Given the description of an element on the screen output the (x, y) to click on. 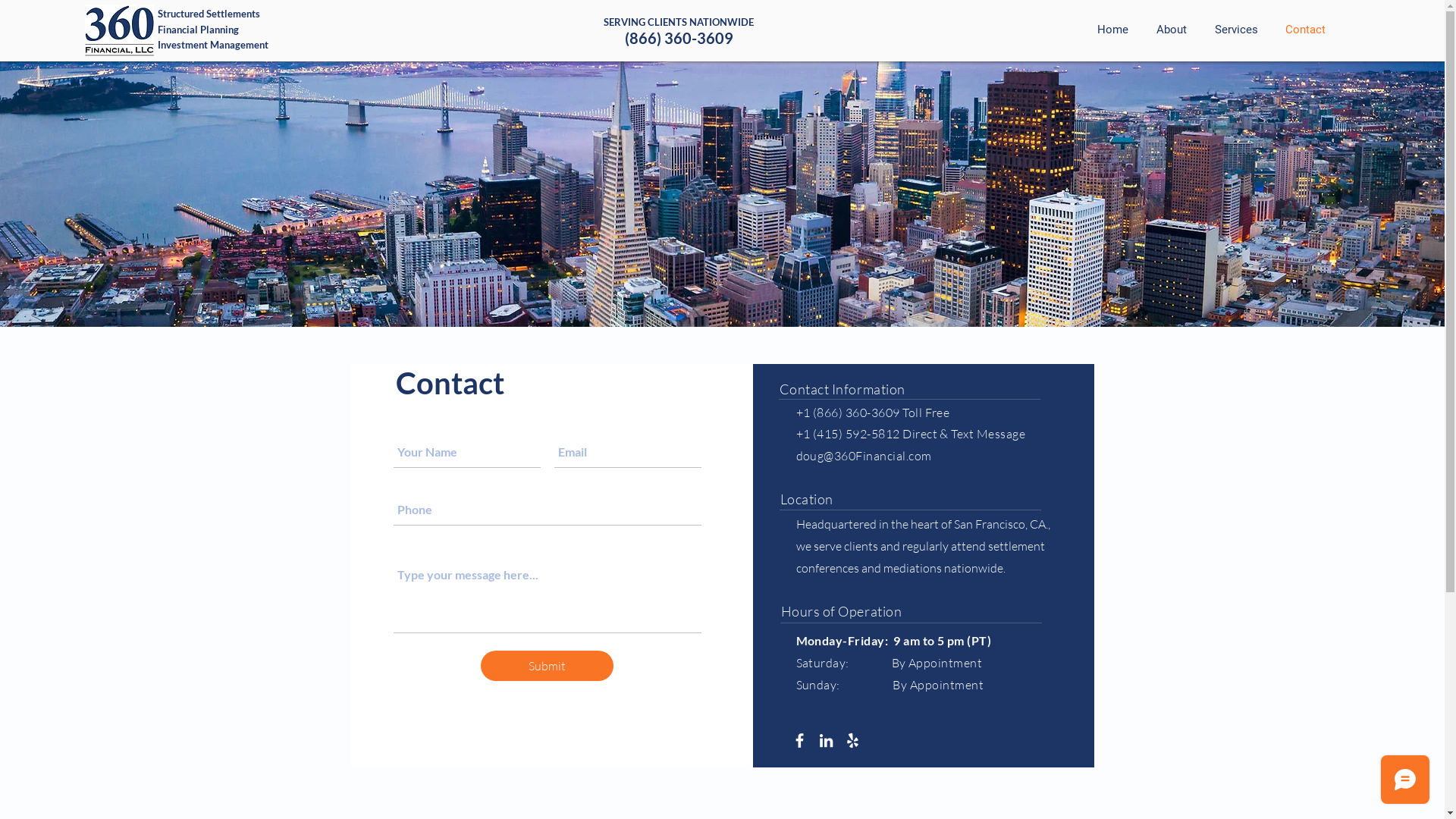
Services Element type: text (1233, 29)
SERVING CLIENTS NATIONWIDE Element type: text (678, 21)
(866) 360-3609 Element type: text (678, 37)
Submit Element type: text (546, 665)
Home Element type: text (1109, 29)
Financial Planning Element type: text (197, 29)
About Element type: text (1168, 29)
Structured Settlements Element type: text (208, 13)
Investment Management Element type: text (212, 44)
doug@360Financial.com Element type: text (863, 455)
Contact Element type: text (1302, 29)
